Given the description of an element on the screen output the (x, y) to click on. 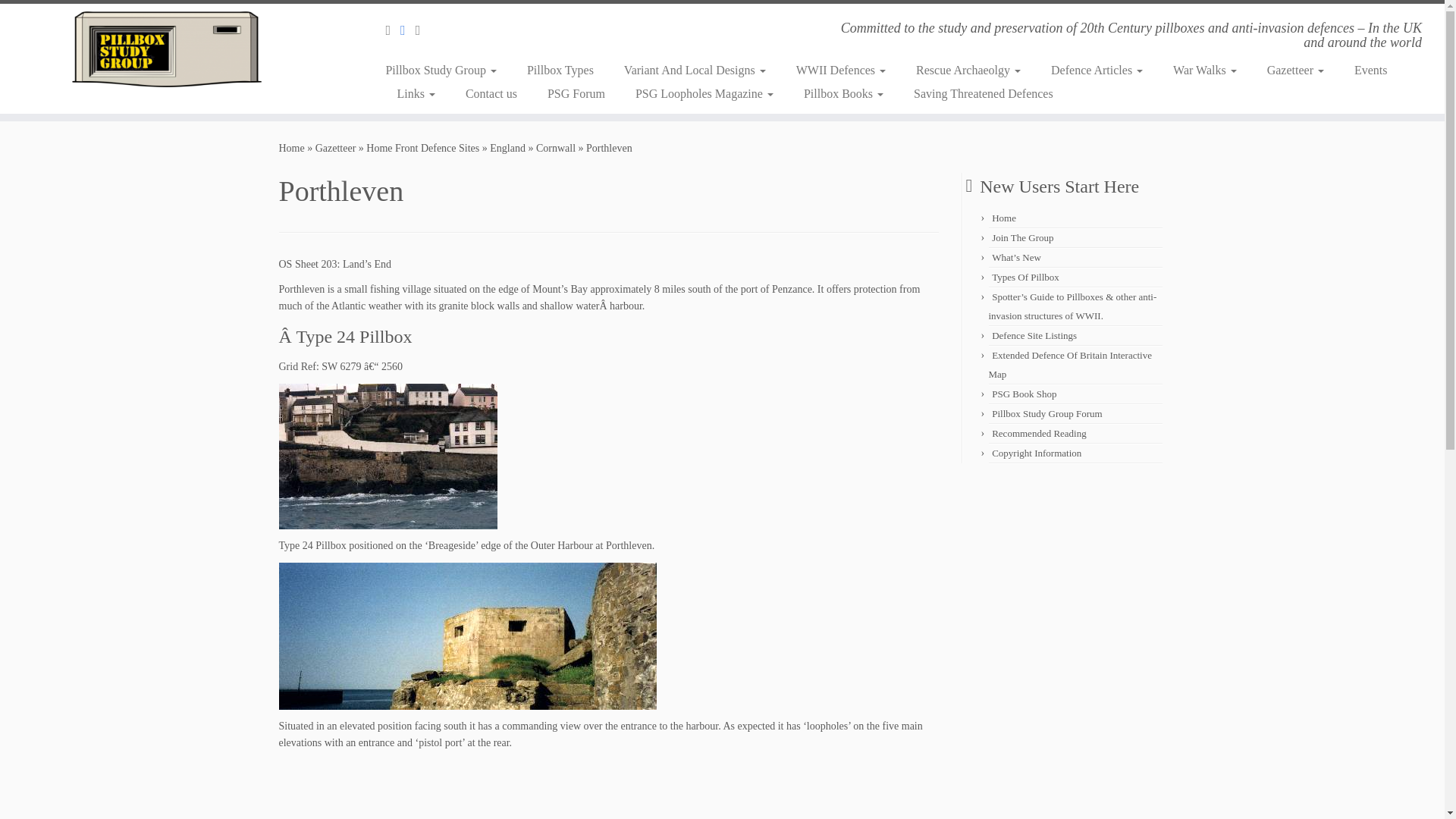
Cornwall (555, 147)
Pillbox Study Group (446, 69)
Home Front Defence Sites (422, 147)
Pillbox Types (560, 69)
Follow us on Facebook (407, 29)
Subscribe to my RSS Feed (392, 29)
Follow us on Twitter (422, 29)
England (507, 147)
The Pillbox Study Group Website. (291, 147)
Variant And Local Designs (694, 69)
Gazetteer (335, 147)
